Given the description of an element on the screen output the (x, y) to click on. 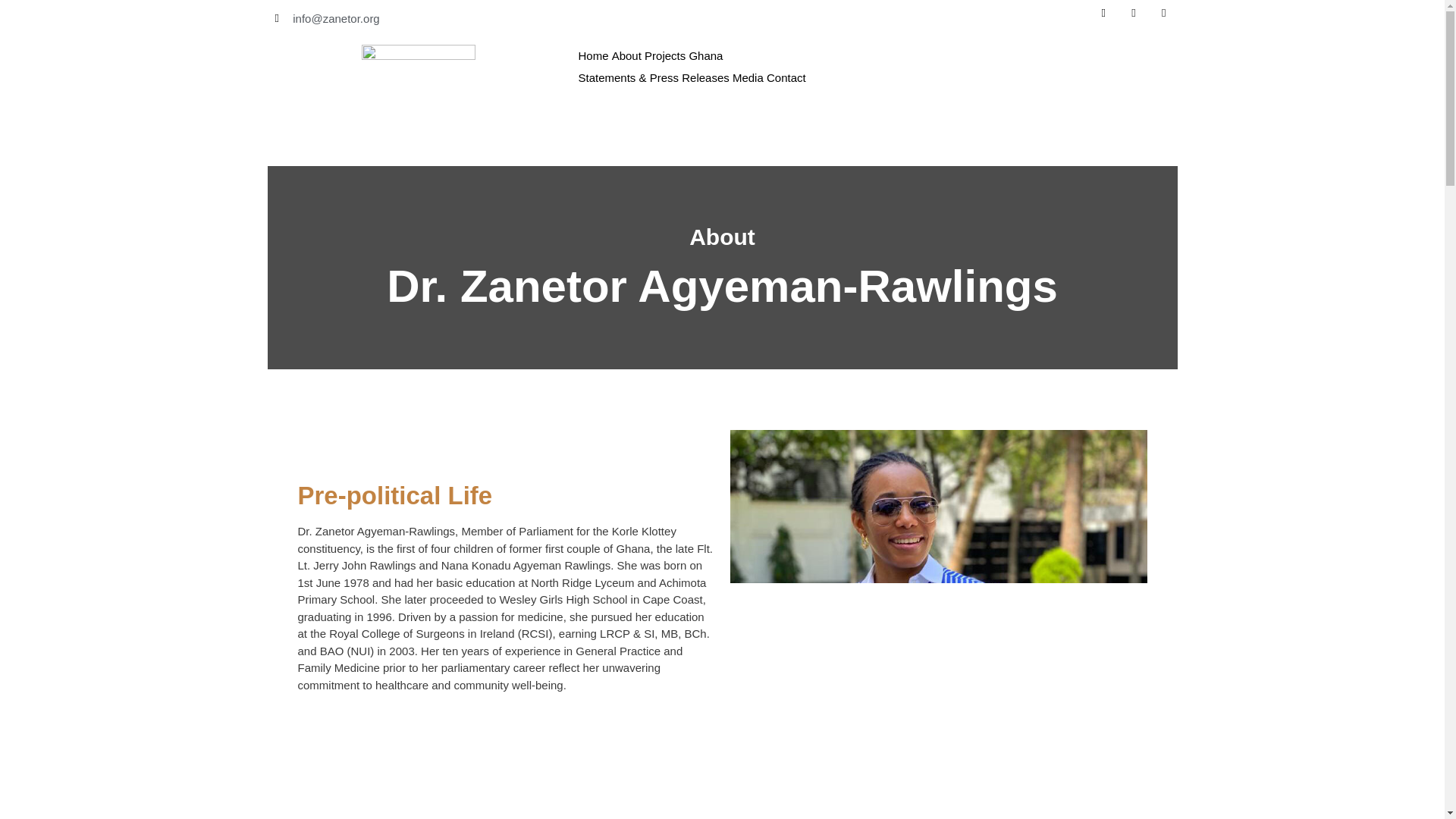
About (626, 55)
Ghana (705, 55)
Media (747, 77)
Contact (786, 77)
Projects (665, 55)
Home (593, 55)
